Given the description of an element on the screen output the (x, y) to click on. 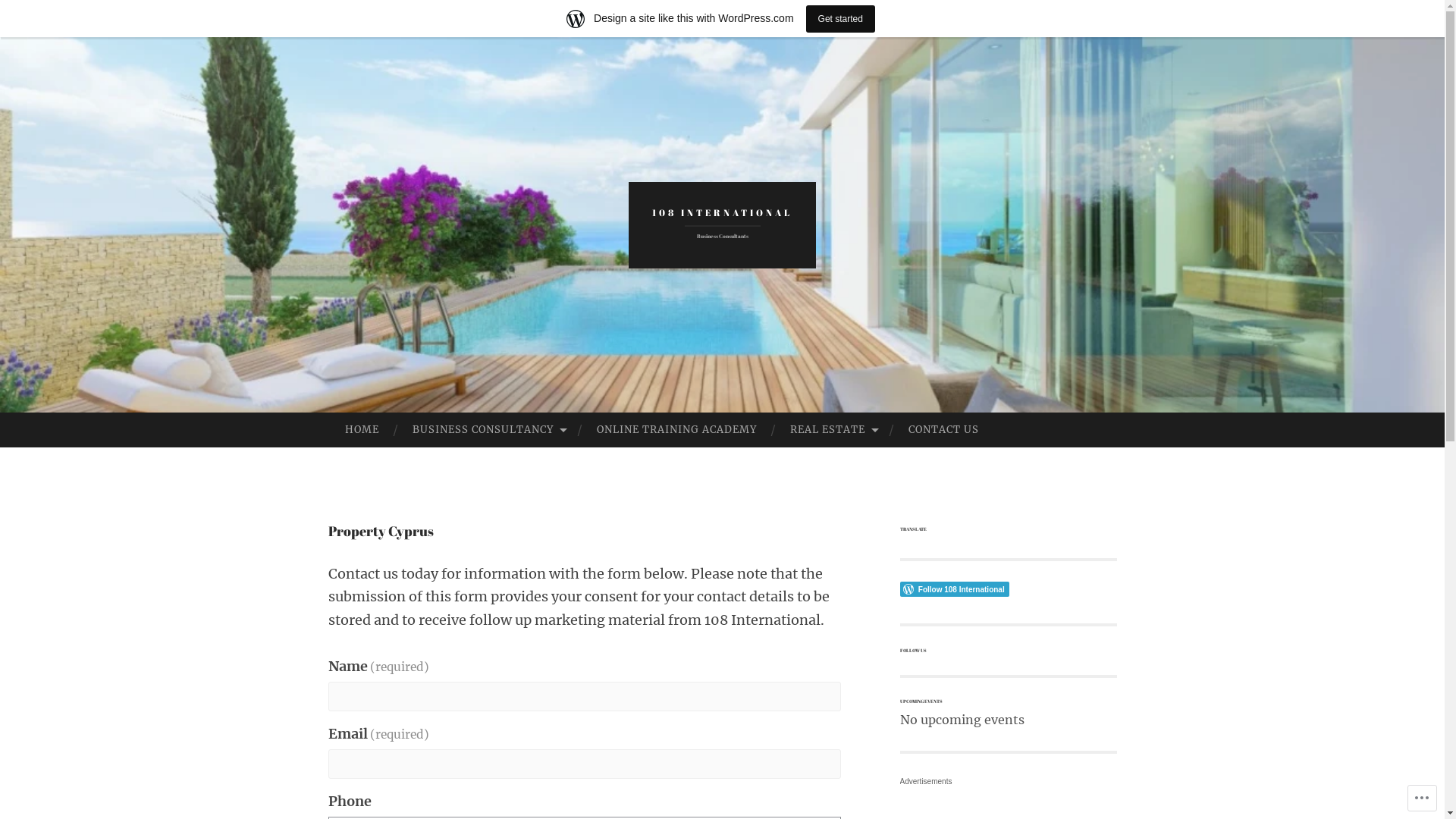
Follow Button Element type: hover (1007, 588)
HOME Element type: text (361, 429)
108 INTERNATIONAL Element type: text (722, 212)
Get started Element type: text (840, 17)
ONLINE TRAINING ACADEMY Element type: text (676, 429)
BUSINESS CONSULTANCY Element type: text (487, 429)
CONTACT US Element type: text (943, 429)
REAL ESTATE Element type: text (832, 429)
